Given the description of an element on the screen output the (x, y) to click on. 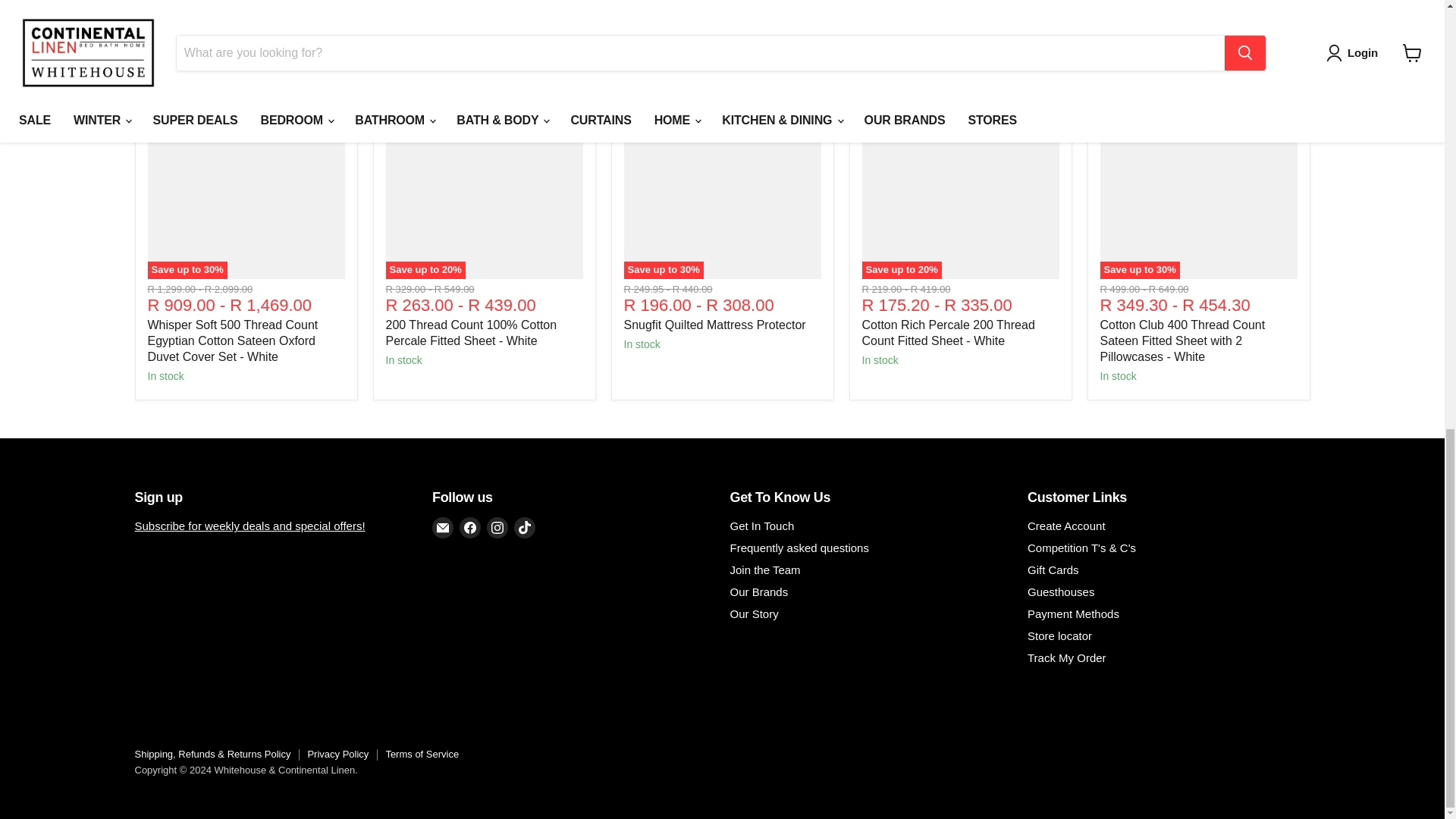
Facebook (470, 527)
Instagram (497, 527)
Sign Up! (250, 525)
TikTok (524, 527)
Email (442, 527)
